Given the description of an element on the screen output the (x, y) to click on. 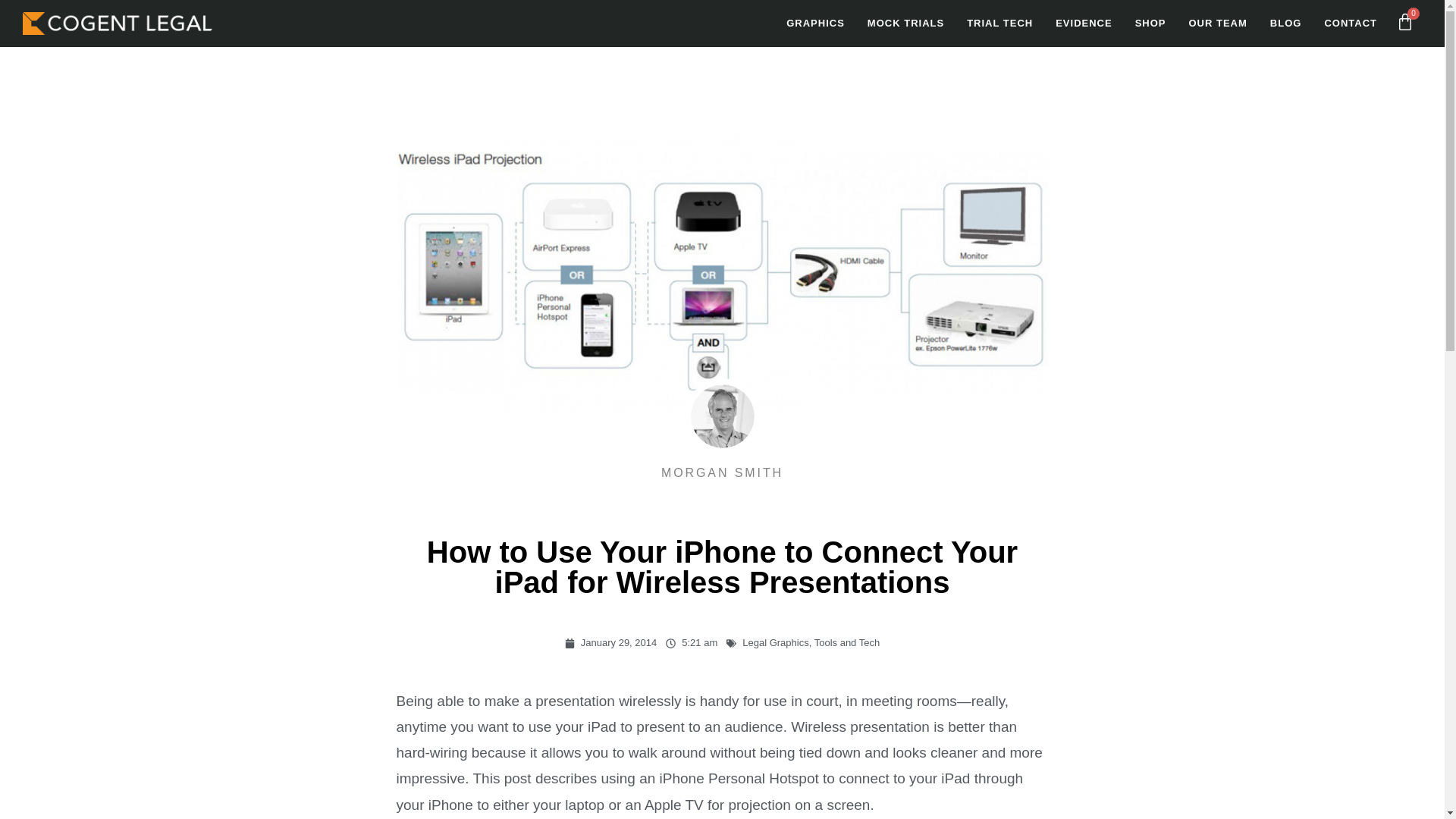
MOCK TRIALS (905, 23)
CONTACT (1351, 23)
January 29, 2014 (610, 642)
EVIDENCE (1082, 23)
SHOP (1150, 23)
Legal Graphics (775, 642)
TRIAL TECH (999, 23)
GRAPHICS (815, 23)
BLOG (1286, 23)
0 (1405, 22)
